Given the description of an element on the screen output the (x, y) to click on. 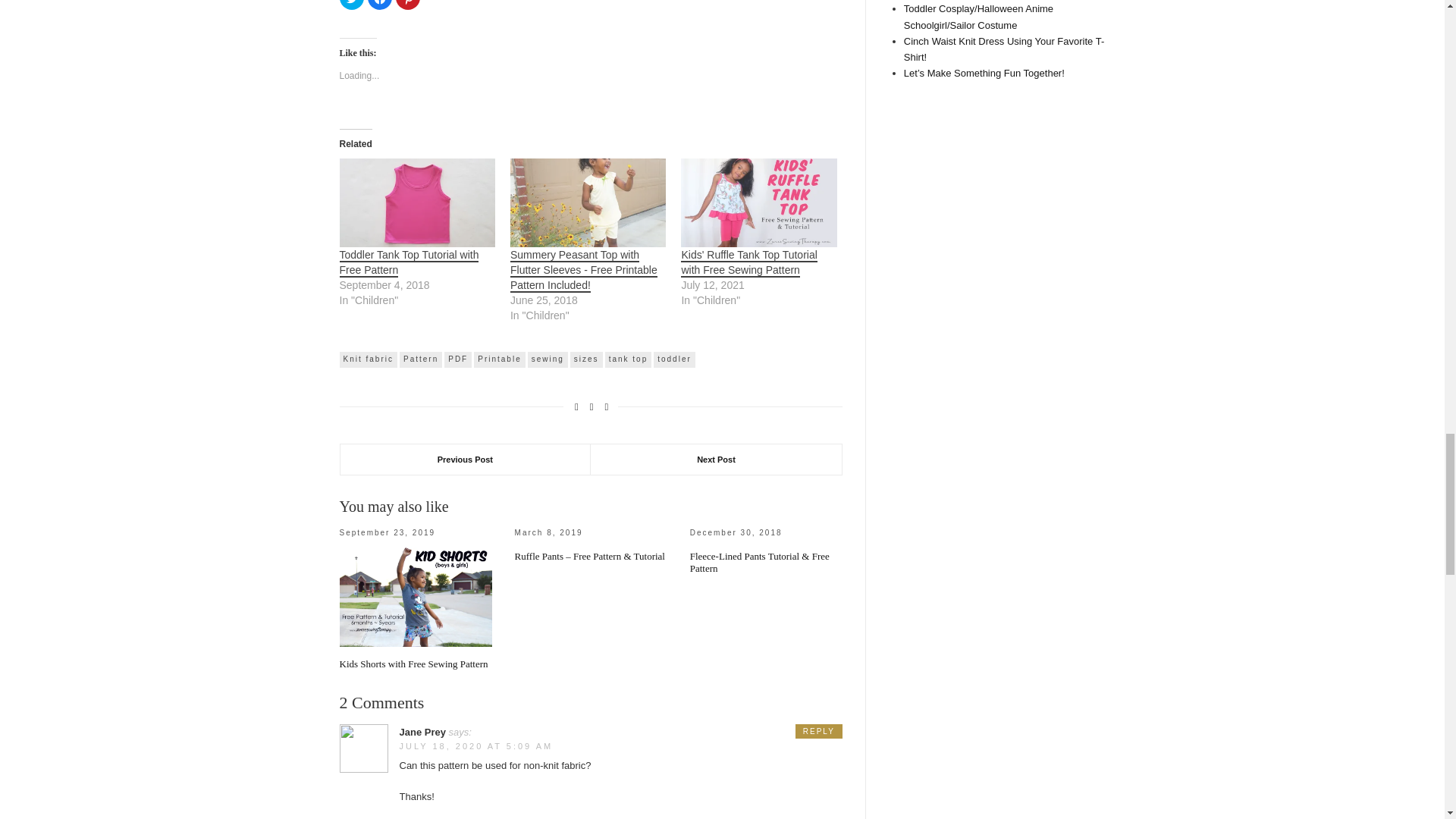
sizes (586, 359)
PDF (457, 359)
Click to share on Pinterest (408, 4)
sewing (547, 359)
tank top (628, 359)
Printable (499, 359)
toddler (674, 359)
Toddler Tank Top Tutorial with Free Pattern (417, 202)
Click to share on Facebook (378, 4)
Toddler Tank Top Tutorial with Free Pattern (409, 262)
Click to share on Twitter (351, 4)
Kids' Ruffle Tank Top Tutorial with Free Sewing Pattern (748, 262)
Kids' Ruffle Tank Top Tutorial with Free Sewing Pattern (758, 202)
